Given the description of an element on the screen output the (x, y) to click on. 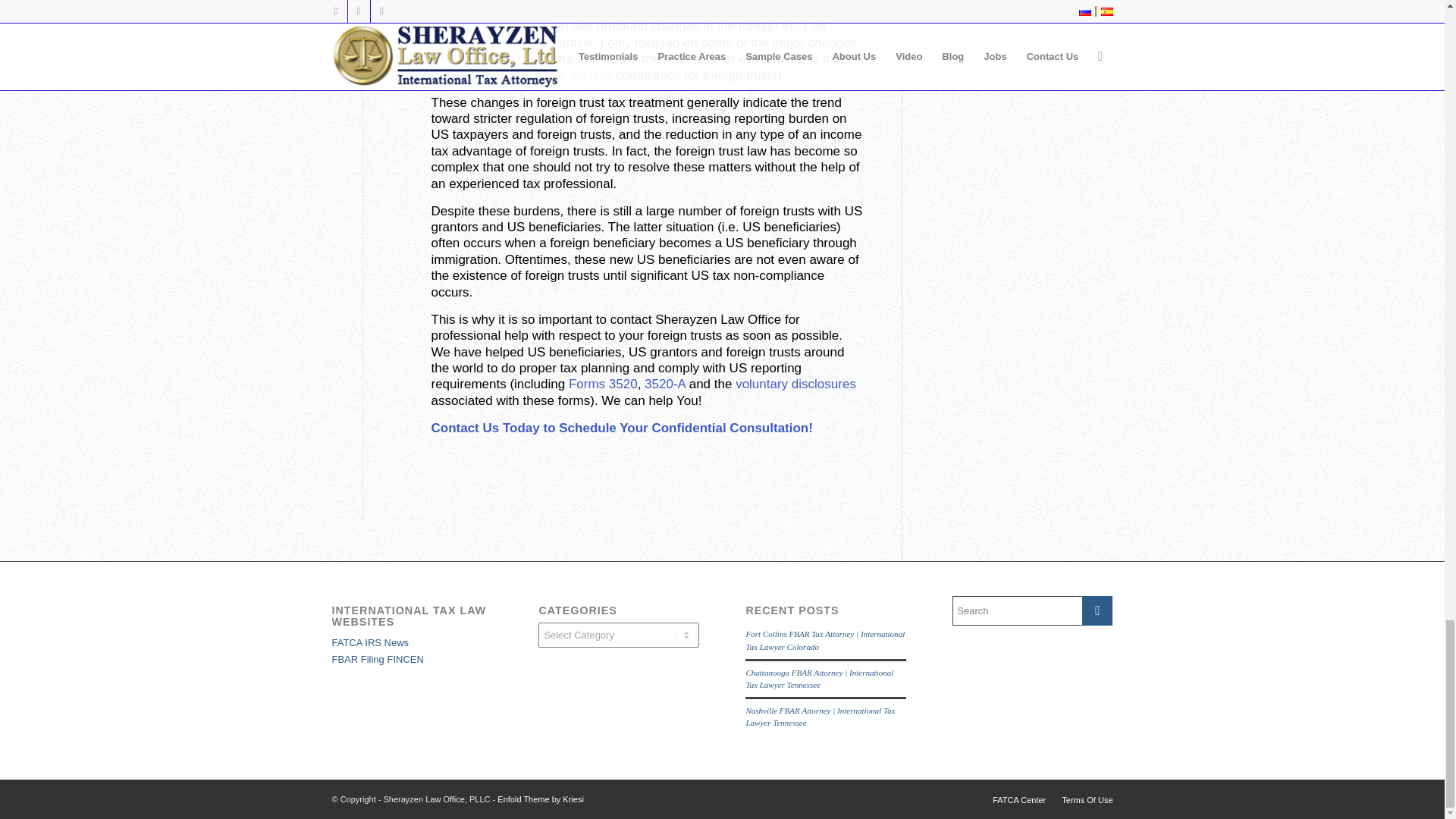
3520-A (665, 383)
FATCA (592, 74)
Forms 3520 (603, 383)
voluntary disclosures (795, 383)
FBAR filing FinCEN (377, 659)
IRS official FATCA news website (370, 642)
Contact Us Today to Schedule Your Confidential Consultation! (621, 427)
